Given the description of an element on the screen output the (x, y) to click on. 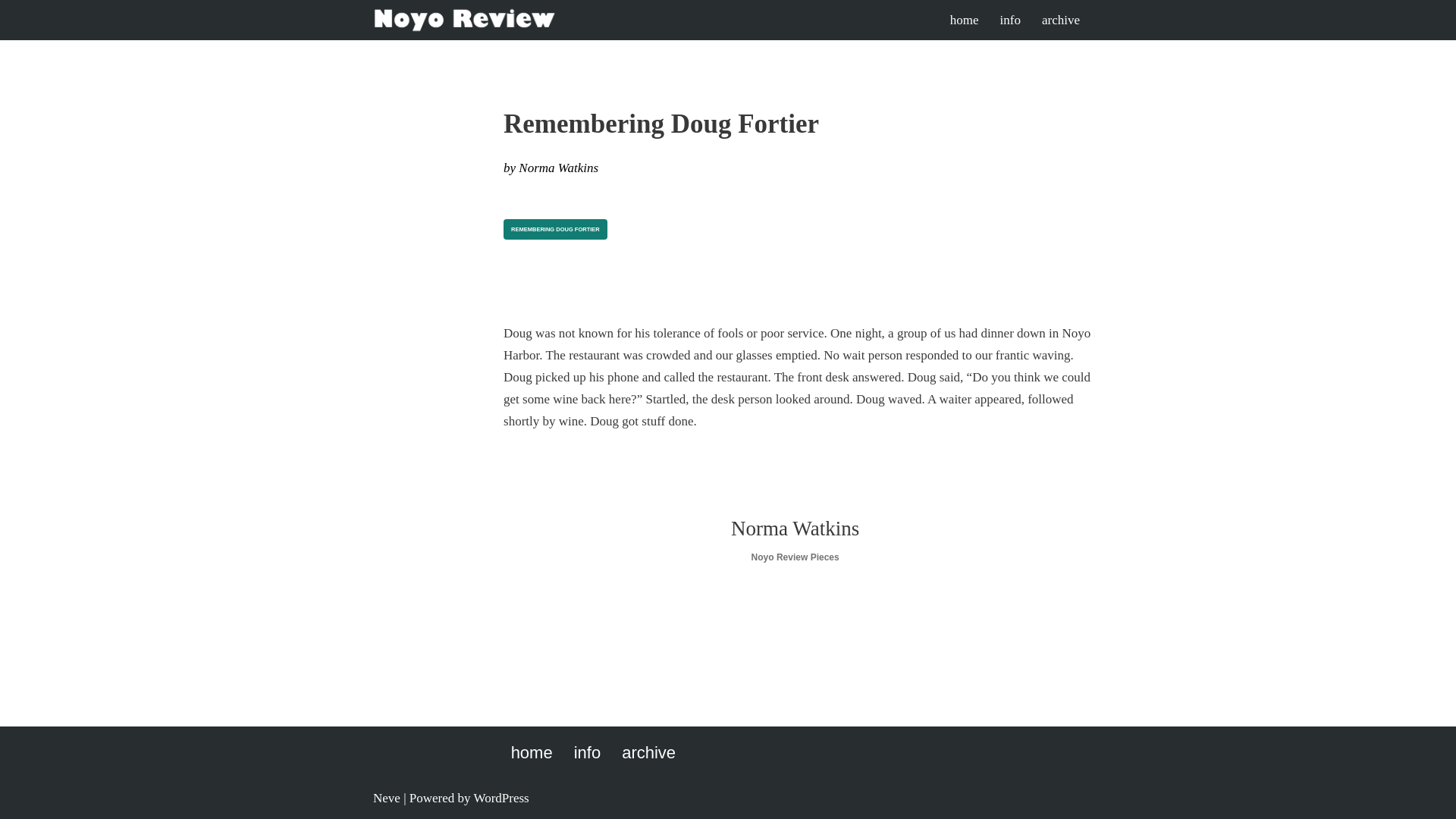
Noyo Review Pieces (795, 557)
Remembering Doug Fortier (555, 229)
archive (1061, 19)
WordPress (500, 798)
archive (648, 752)
Norma Watkins (558, 167)
Neve (386, 798)
info (1010, 19)
REMEMBERING DOUG FORTIER (555, 229)
home (964, 19)
